Given the description of an element on the screen output the (x, y) to click on. 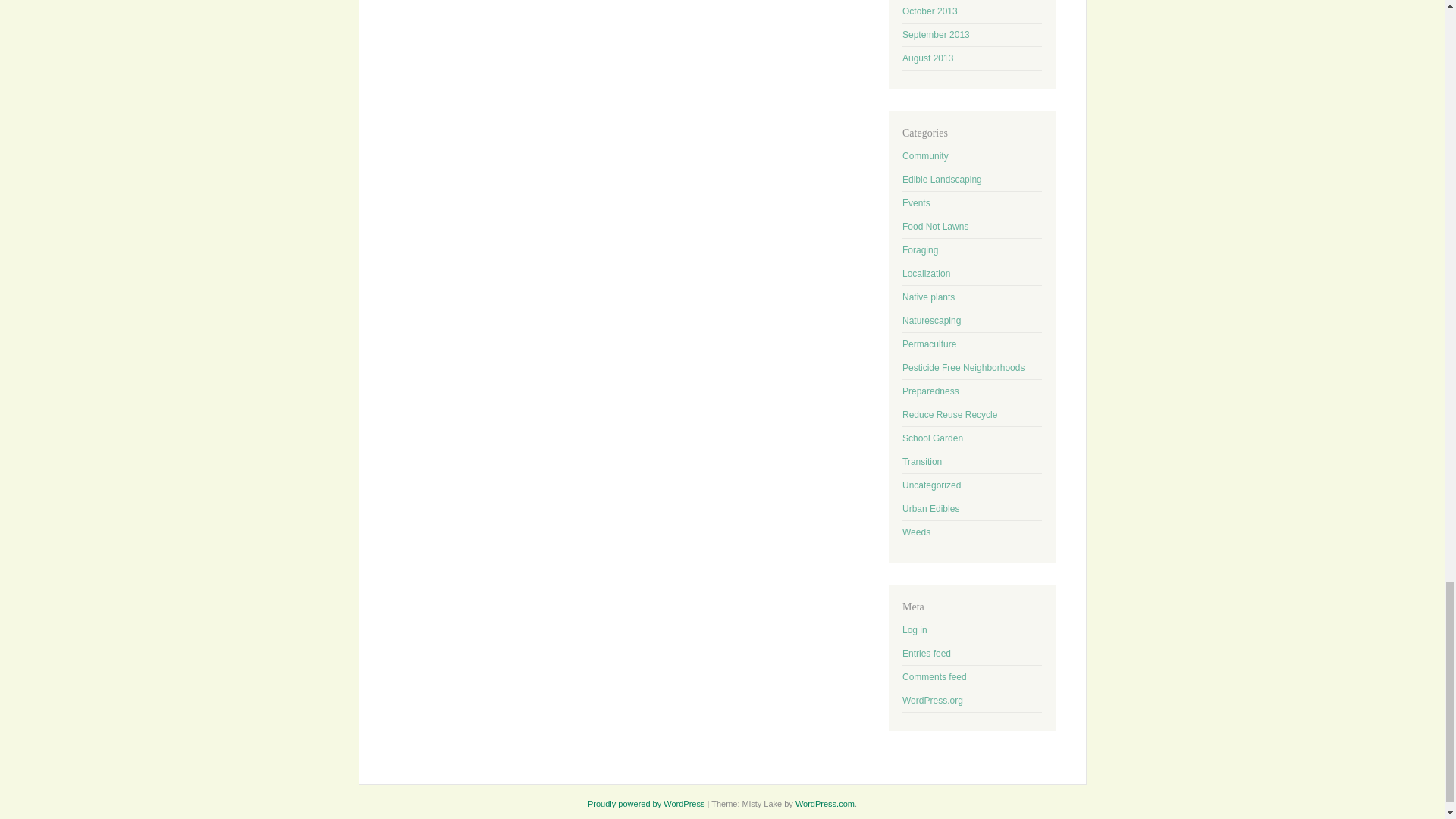
A Semantic Personal Publishing Platform (646, 803)
